Given the description of an element on the screen output the (x, y) to click on. 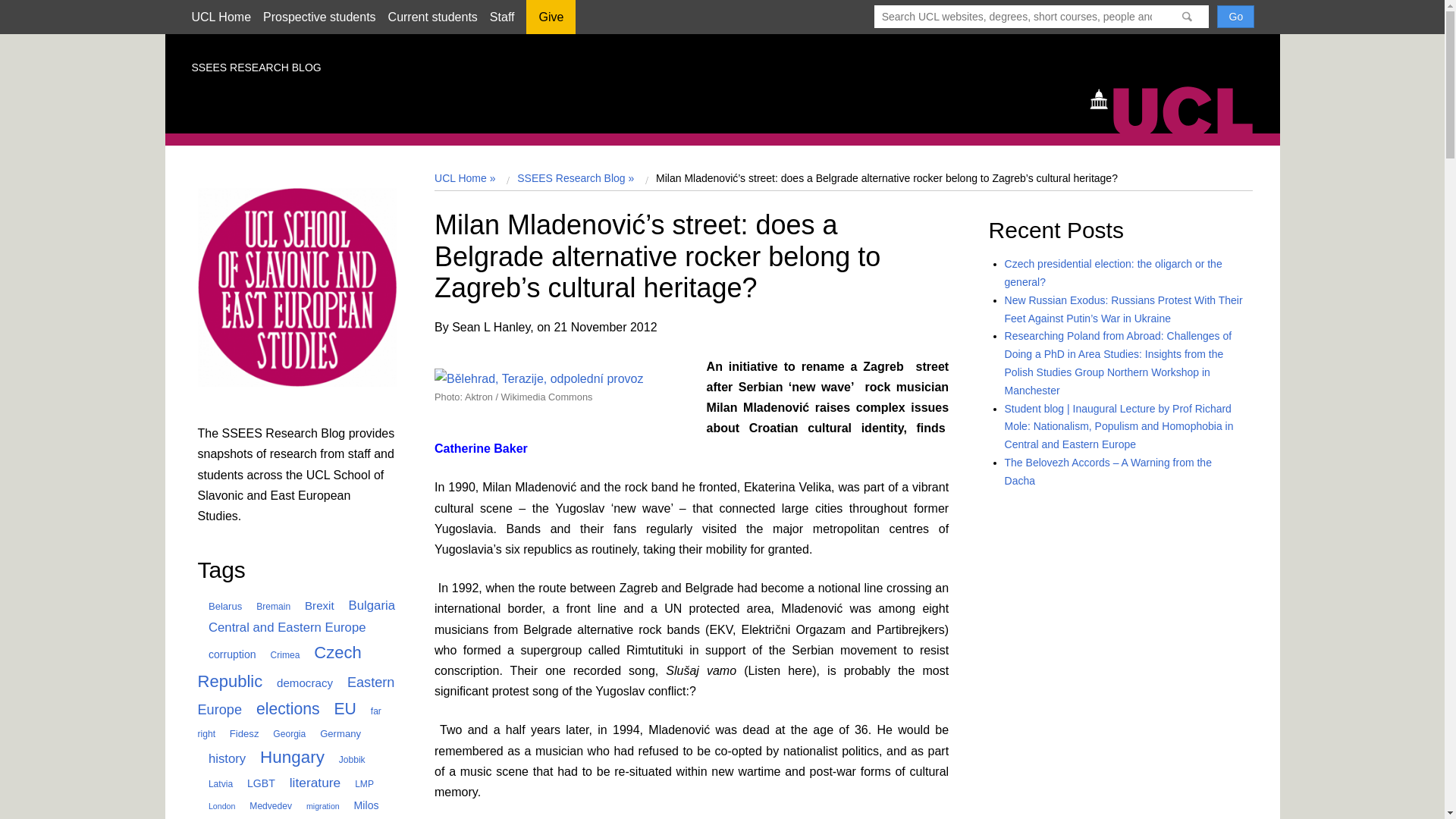
Current students (432, 16)
Bremain (267, 606)
Medvedev (265, 805)
Hungary (286, 756)
migration (317, 805)
Give (550, 22)
Bulgaria (365, 605)
Go (1235, 15)
elections (283, 708)
UCL Home (220, 16)
